Given the description of an element on the screen output the (x, y) to click on. 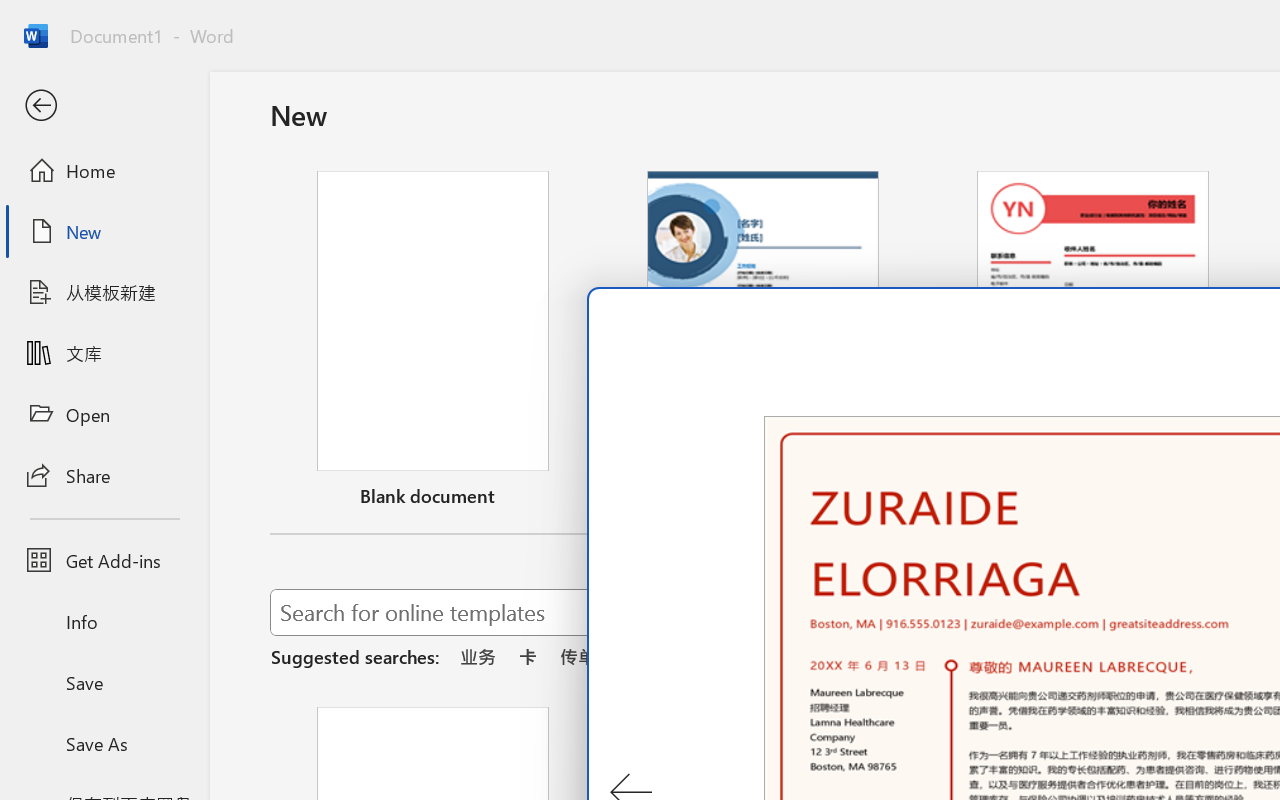
Get Add-ins (104, 560)
Back (104, 106)
Info (104, 621)
New (104, 231)
Save As (104, 743)
